Given the description of an element on the screen output the (x, y) to click on. 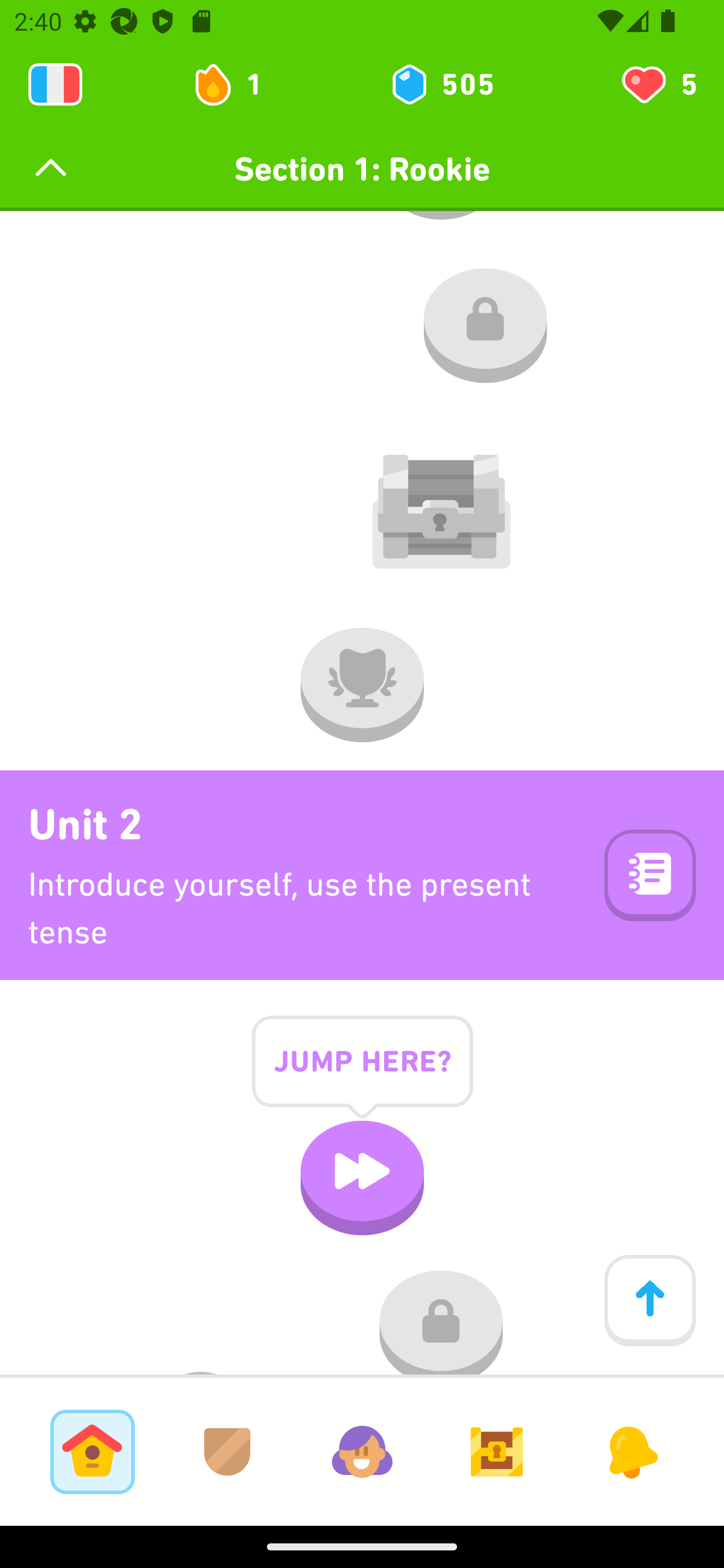
Learning 2131888976 (55, 84)
1 day streak 1 (236, 84)
505 (441, 84)
You have 5 hearts left 5 (657, 84)
Section 1: Rookie (362, 169)
JUMP HERE? (361, 1077)
Learn Tab (91, 1451)
Leagues Tab (227, 1451)
Profile Tab (361, 1451)
Goals Tab (496, 1451)
News Tab (631, 1451)
